Given the description of an element on the screen output the (x, y) to click on. 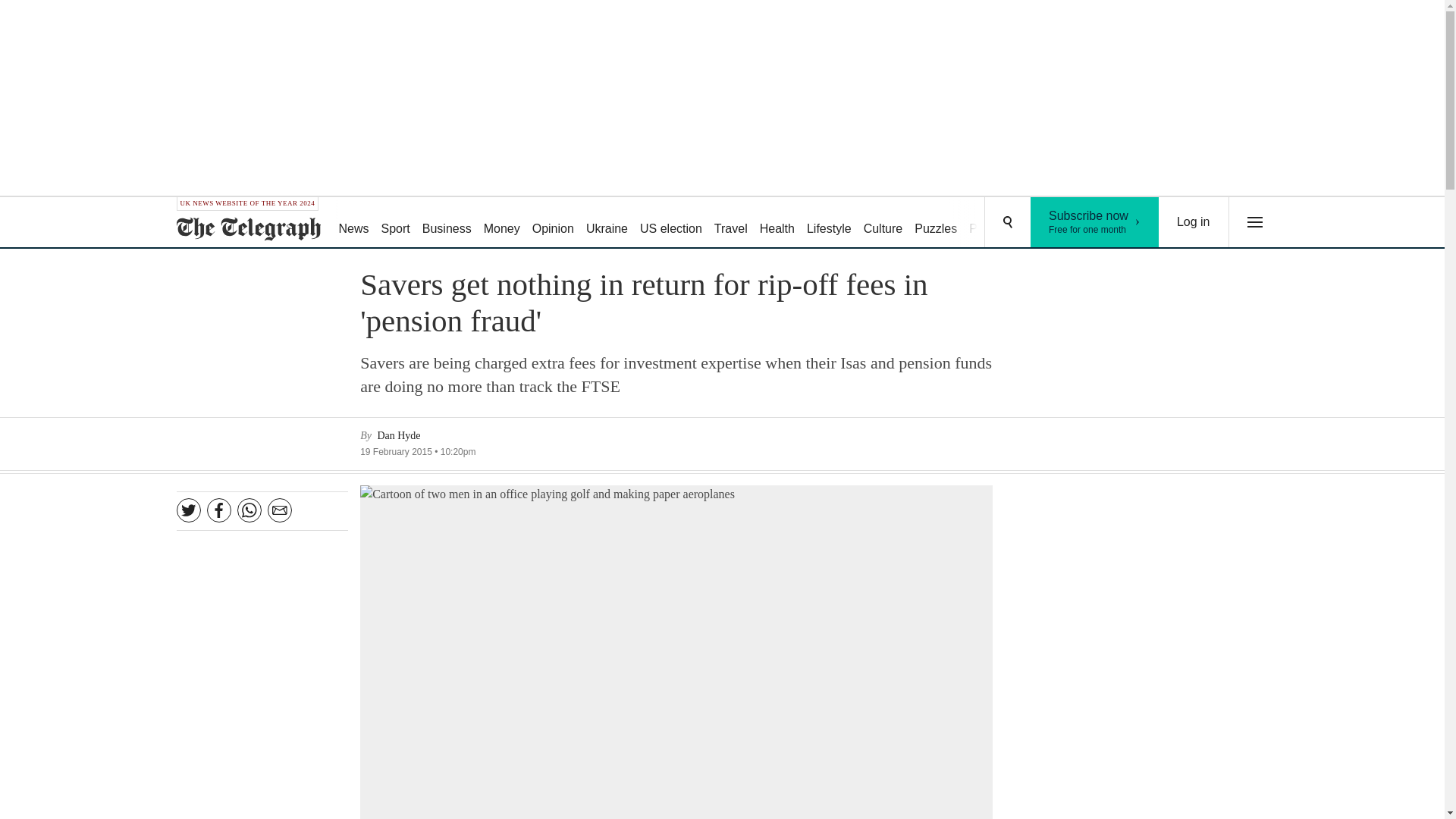
Ukraine (606, 223)
Puzzles (935, 223)
Opinion (552, 223)
Lifestyle (828, 223)
Business (446, 223)
Health (777, 223)
Podcasts (993, 223)
US election (670, 223)
Culture (882, 223)
Log in (1193, 222)
